Given the description of an element on the screen output the (x, y) to click on. 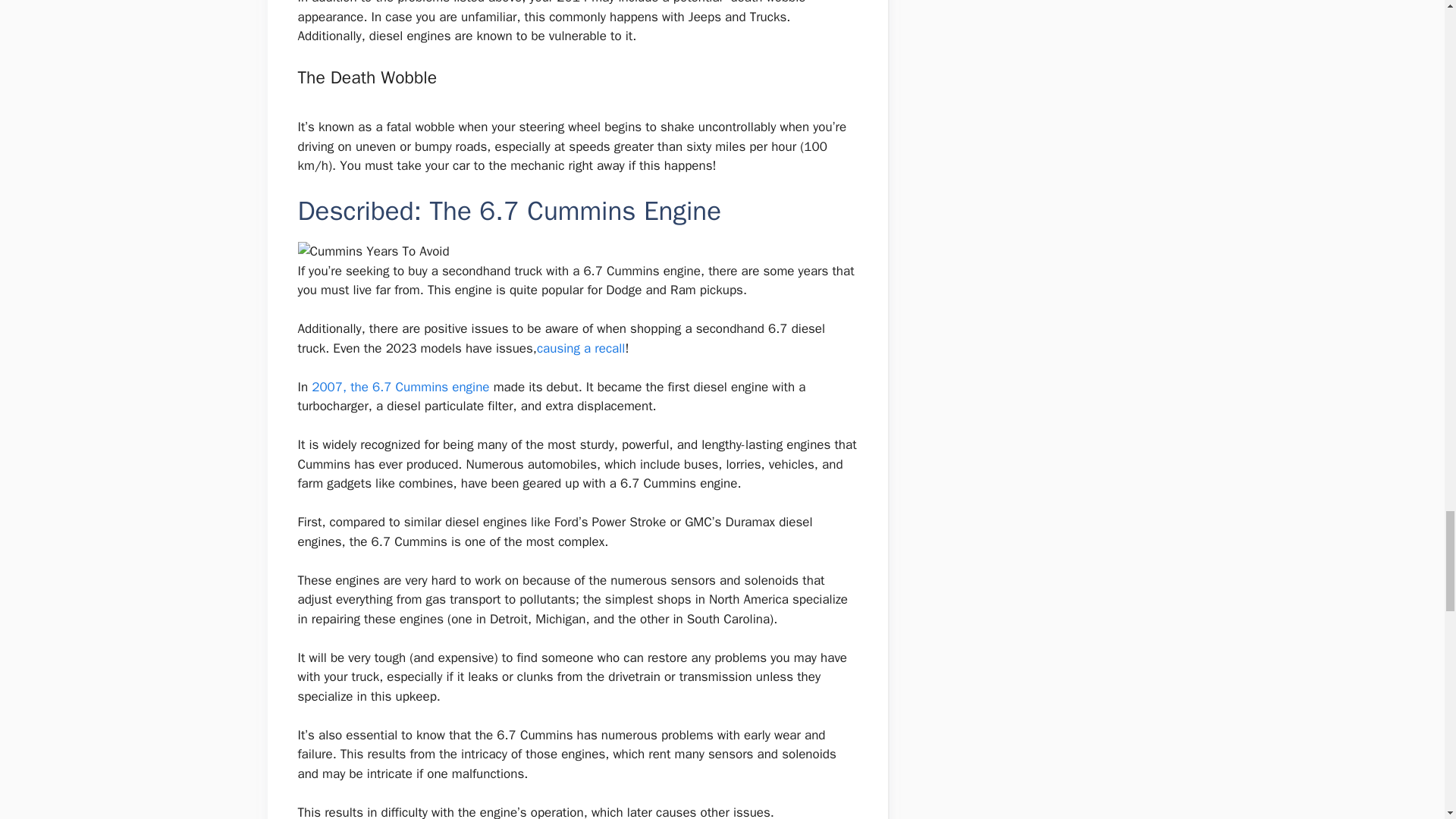
causing a recall (580, 348)
2007, the 6.7 Cummins engine (402, 386)
